Given the description of an element on the screen output the (x, y) to click on. 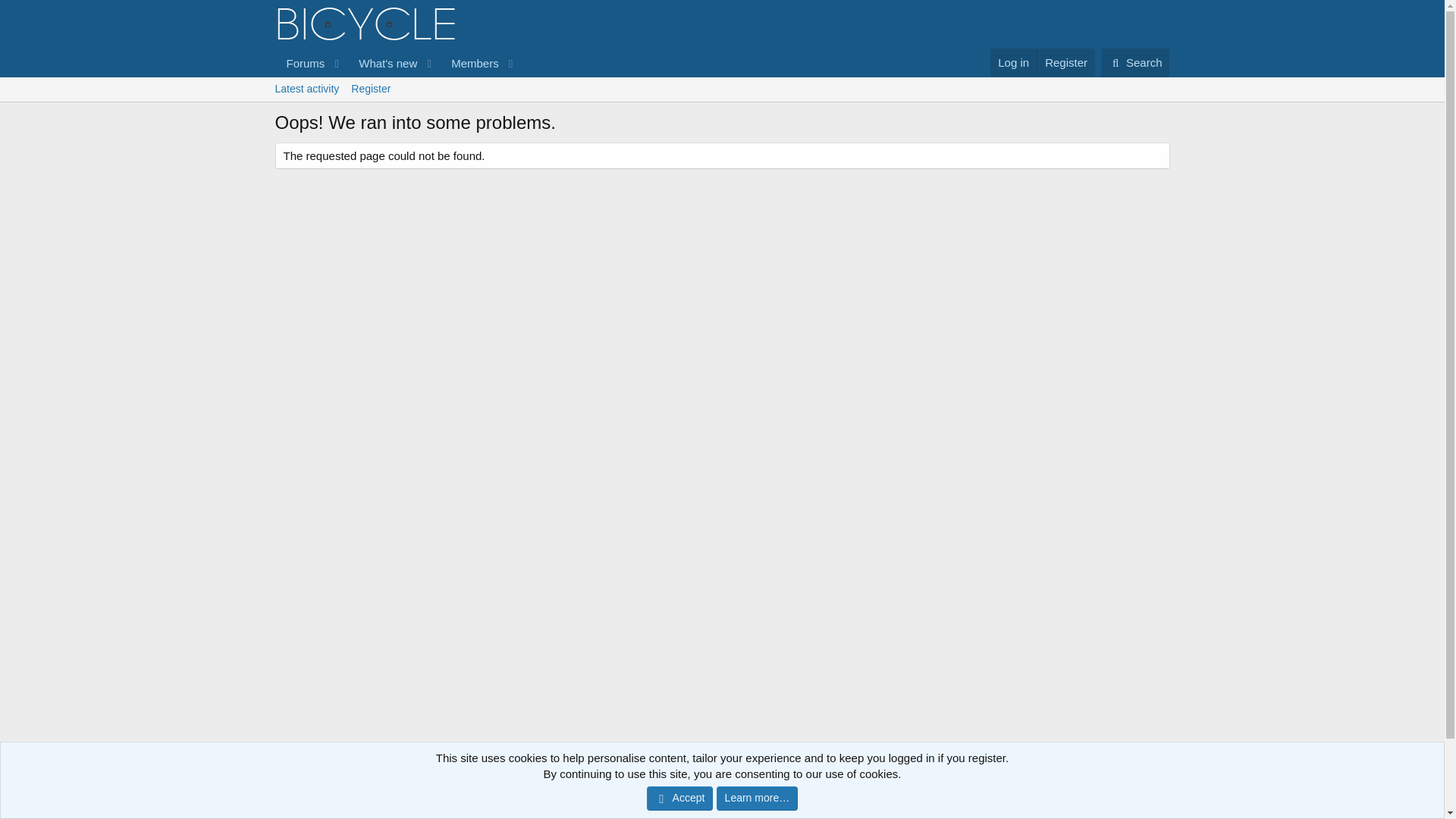
Help (1092, 776)
Privacy policy (1038, 776)
Members (469, 62)
Accept (397, 62)
Register (679, 798)
What's new (370, 88)
Search (383, 62)
Forums (1135, 62)
Search (300, 62)
